Given the description of an element on the screen output the (x, y) to click on. 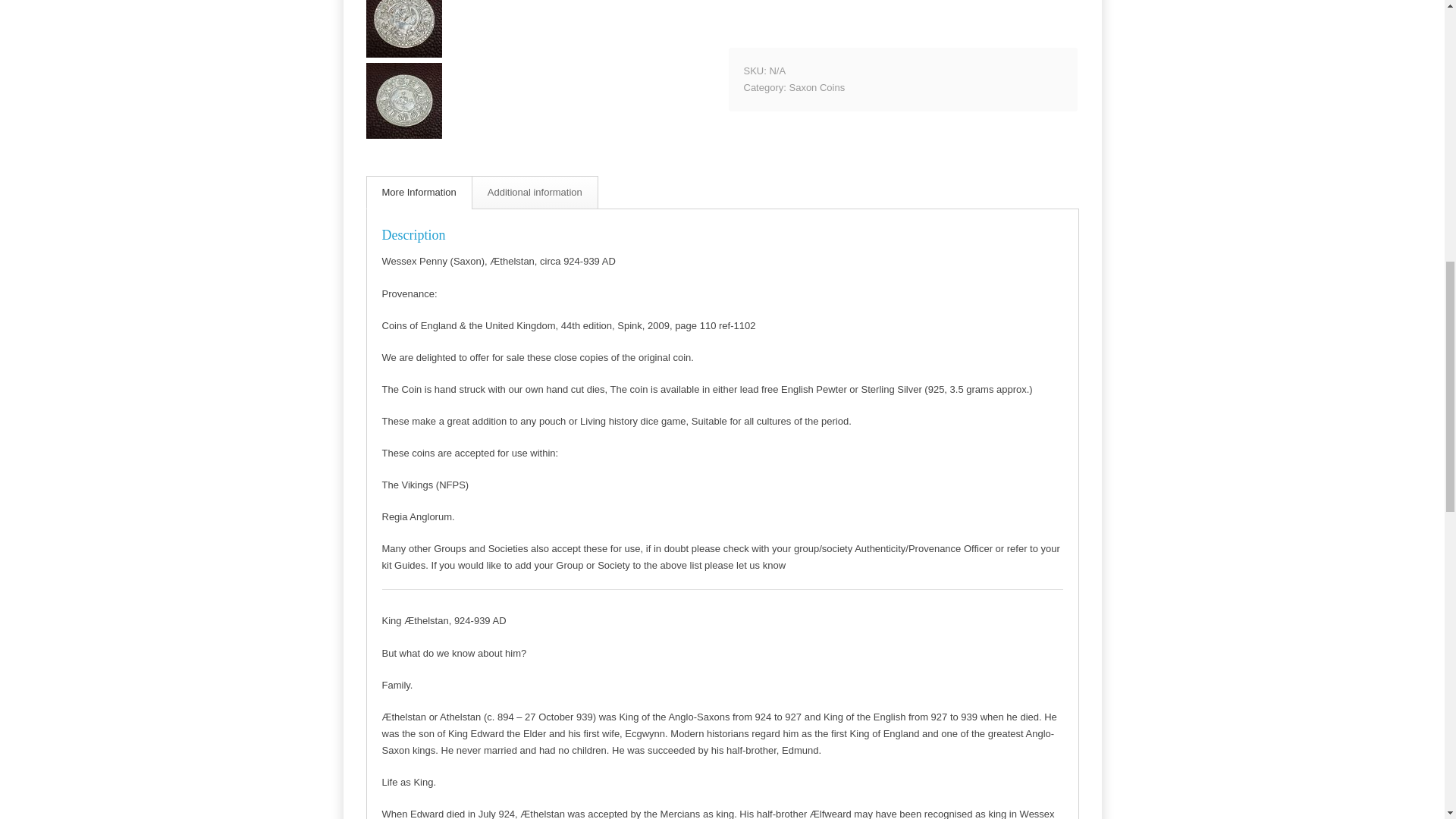
Athelstan silver 20 rev (403, 100)
PayPal (902, 23)
Saxon Coins (816, 87)
More Information (418, 192)
Additional information (534, 192)
Athelstan silver 20 obv (403, 28)
